Given the description of an element on the screen output the (x, y) to click on. 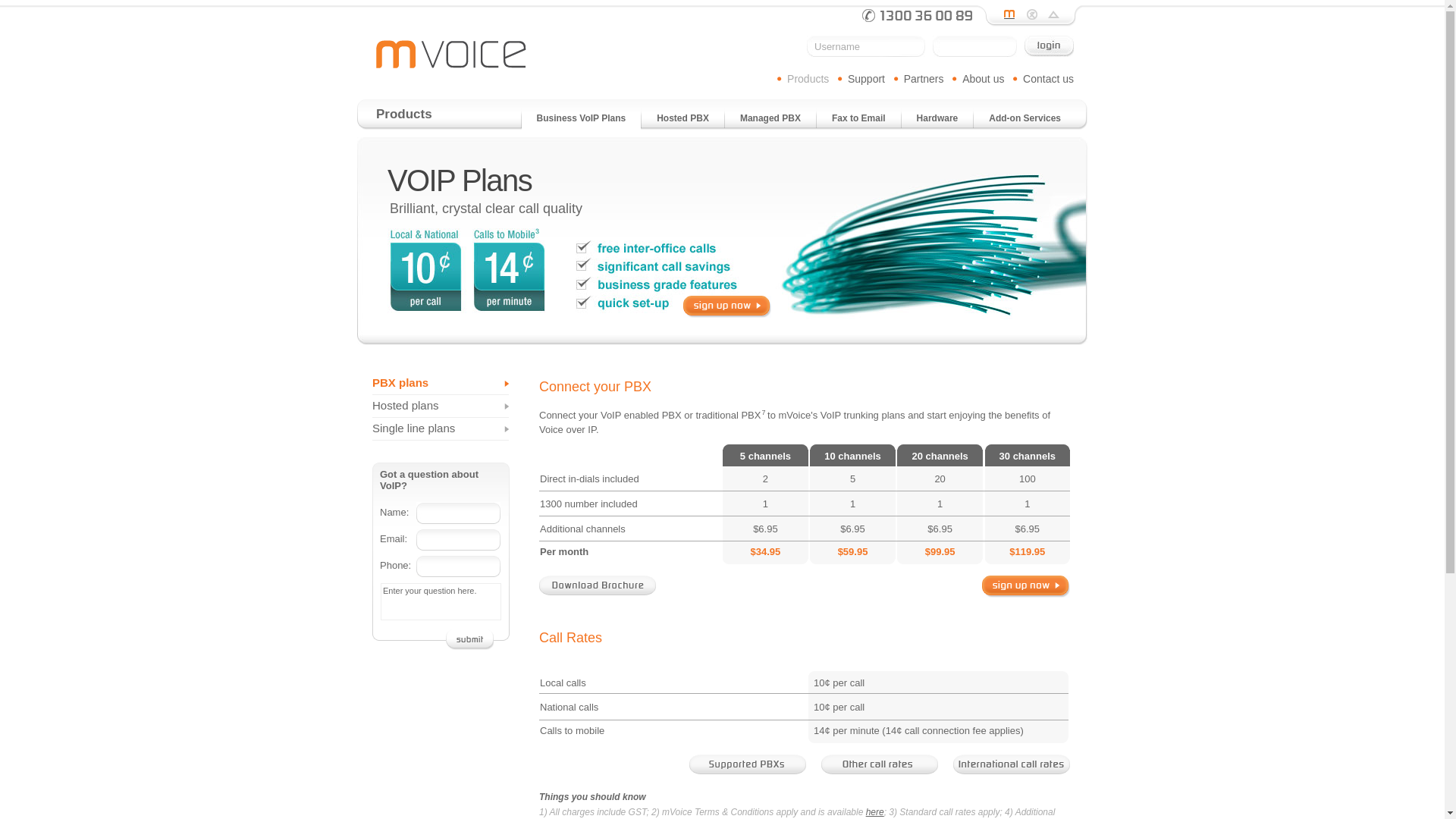
mVoice VoIP Element type: text (451, 54)
Support Element type: text (865, 78)
Single line plans Element type: text (440, 428)
PBX plans Element type: text (440, 383)
Contact mVoice VoIP on 1300 36 00 89 Element type: hover (916, 14)
Business VoIP Plans Element type: text (581, 120)
Managed PBX Element type: text (769, 120)
Login Element type: text (1048, 45)
Hosted plans Element type: text (440, 405)
About us Element type: text (983, 78)
Hosted PBX Element type: text (682, 120)
Add-on Services Element type: text (1024, 120)
Contact us Element type: text (1047, 78)
Partners Element type: text (923, 78)
Fax to Email Element type: text (858, 120)
Products Element type: text (807, 78)
here Element type: text (875, 811)
Hardware Element type: text (937, 120)
